Given the description of an element on the screen output the (x, y) to click on. 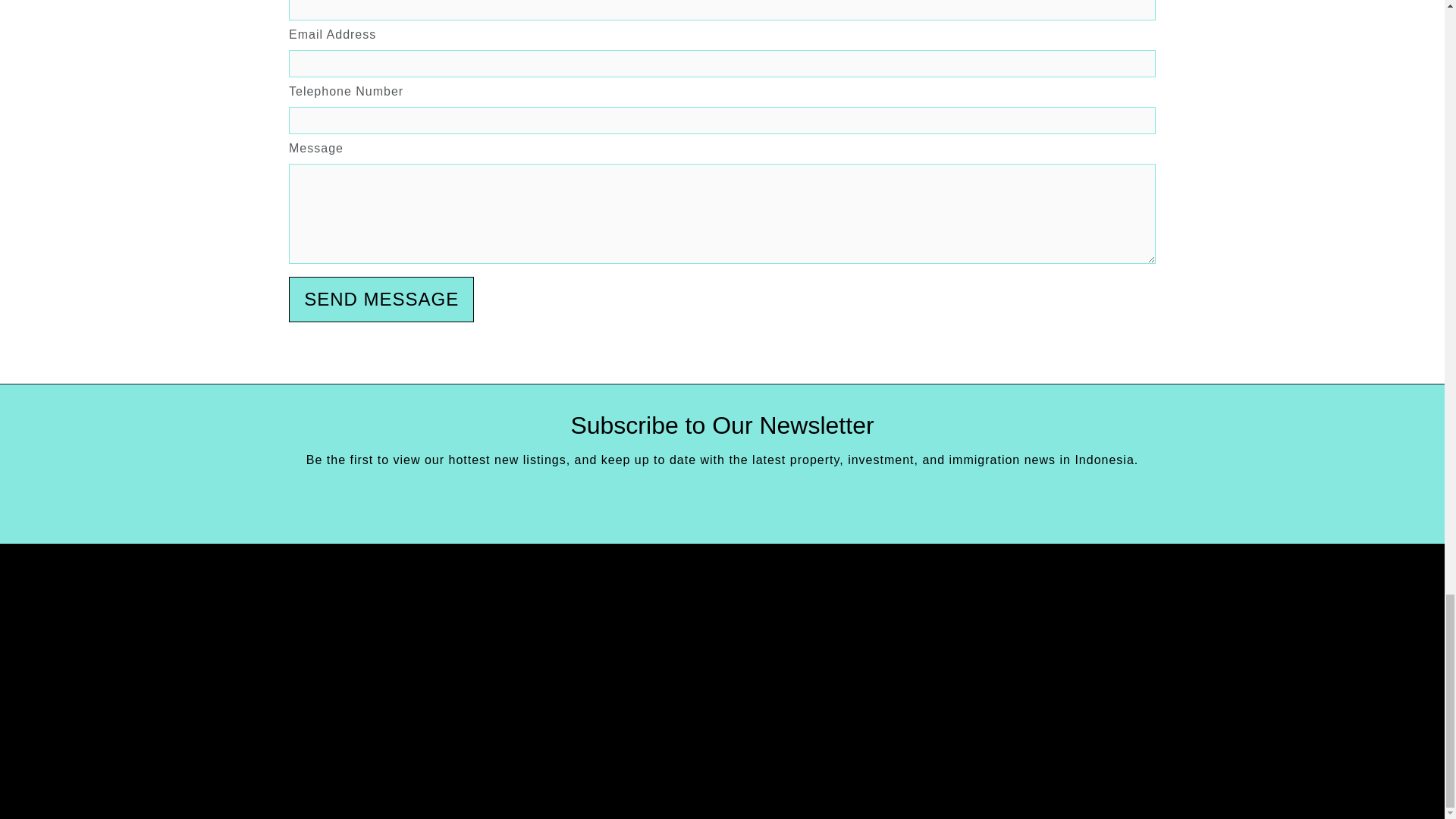
SEND MESSAGE (381, 298)
